Given the description of an element on the screen output the (x, y) to click on. 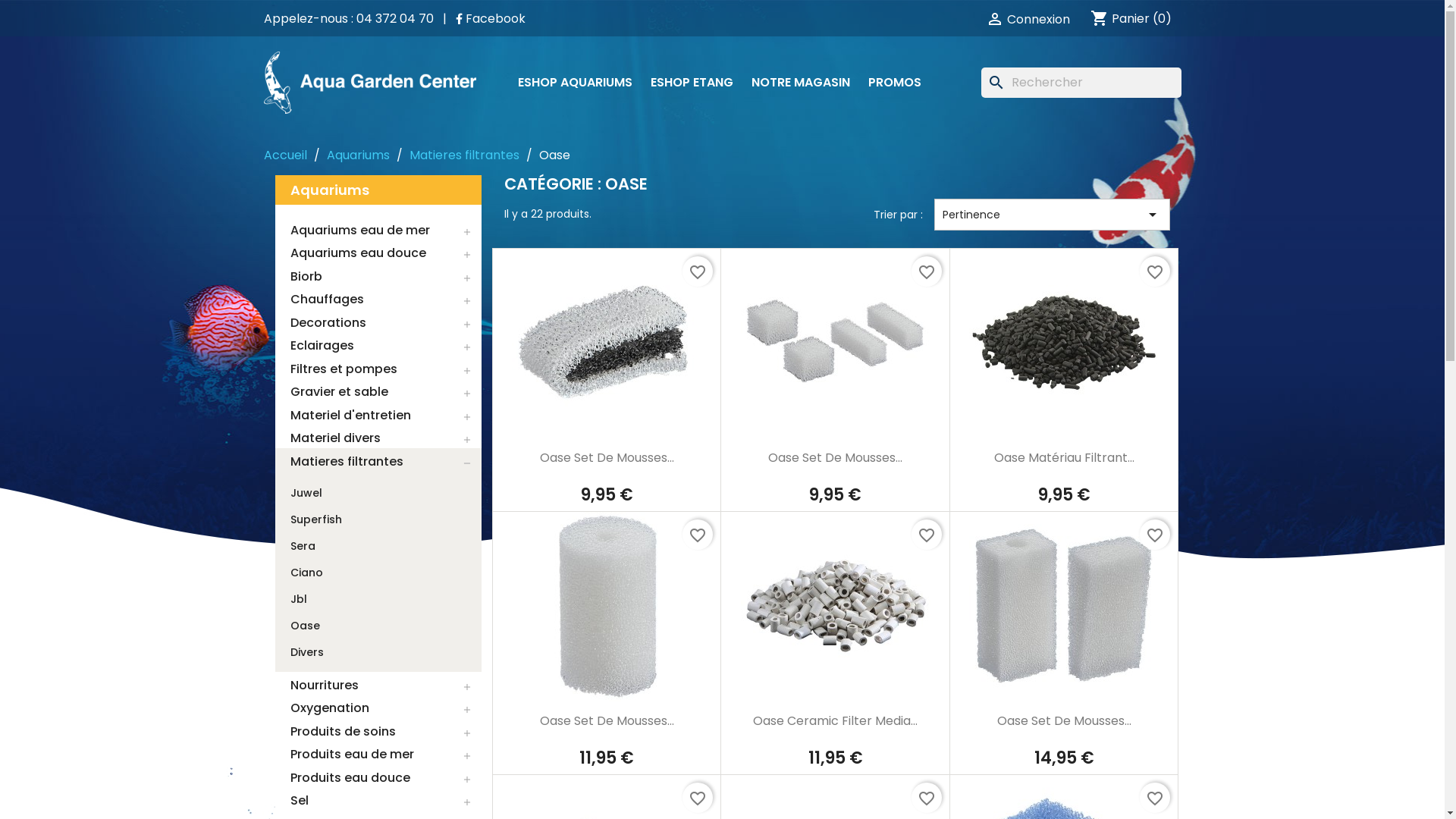
Produits de soins Element type: text (377, 731)
Facebook Element type: text (489, 18)
Oase Set De Mousses... Element type: text (835, 457)
favorite_border Element type: text (1154, 797)
Decorations Element type: text (377, 322)
Oase Set De Mousses... Element type: text (606, 457)
Superfish Element type: text (315, 519)
Biorb Element type: text (377, 276)
ESHOP ETANG Element type: text (691, 82)
favorite_border Element type: text (697, 534)
Oase Element type: text (304, 625)
favorite_border Element type: text (697, 271)
favorite_border Element type: text (926, 534)
Aquariums eau de mer Element type: text (377, 230)
Oase Set De Mousses... Element type: text (606, 720)
Juwel Element type: text (305, 492)
Oase Set De Mousses... Element type: text (1064, 720)
Sera Element type: text (301, 545)
Oase Ceramic Filter Media... Element type: text (835, 720)
Matieres filtrantes Element type: text (377, 461)
Sel Element type: text (377, 801)
Gravier et sable Element type: text (377, 392)
Divers Element type: text (306, 652)
favorite_border Element type: text (1154, 534)
Jbl Element type: text (297, 598)
Chauffages Element type: text (377, 300)
NOTRE MAGASIN Element type: text (799, 82)
Accueil Element type: text (285, 154)
Oxygenation Element type: text (377, 708)
Aquariums Element type: text (377, 190)
PROMOS Element type: text (893, 82)
Aquariums eau douce Element type: text (377, 253)
Matieres filtrantes Element type: text (464, 154)
favorite_border Element type: text (1154, 271)
favorite_border Element type: text (697, 797)
Nourritures Element type: text (377, 685)
Filtres et pompes Element type: text (377, 369)
Eclairages Element type: text (377, 346)
favorite_border Element type: text (926, 797)
Materiel divers Element type: text (377, 438)
Ciano Element type: text (305, 572)
Produits eau douce Element type: text (377, 777)
ESHOP AQUARIUMS Element type: text (574, 82)
Materiel d'entretien Element type: text (377, 415)
Aquariums Element type: text (357, 154)
Produits eau de mer Element type: text (377, 755)
favorite_border Element type: text (926, 271)
